Given the description of an element on the screen output the (x, y) to click on. 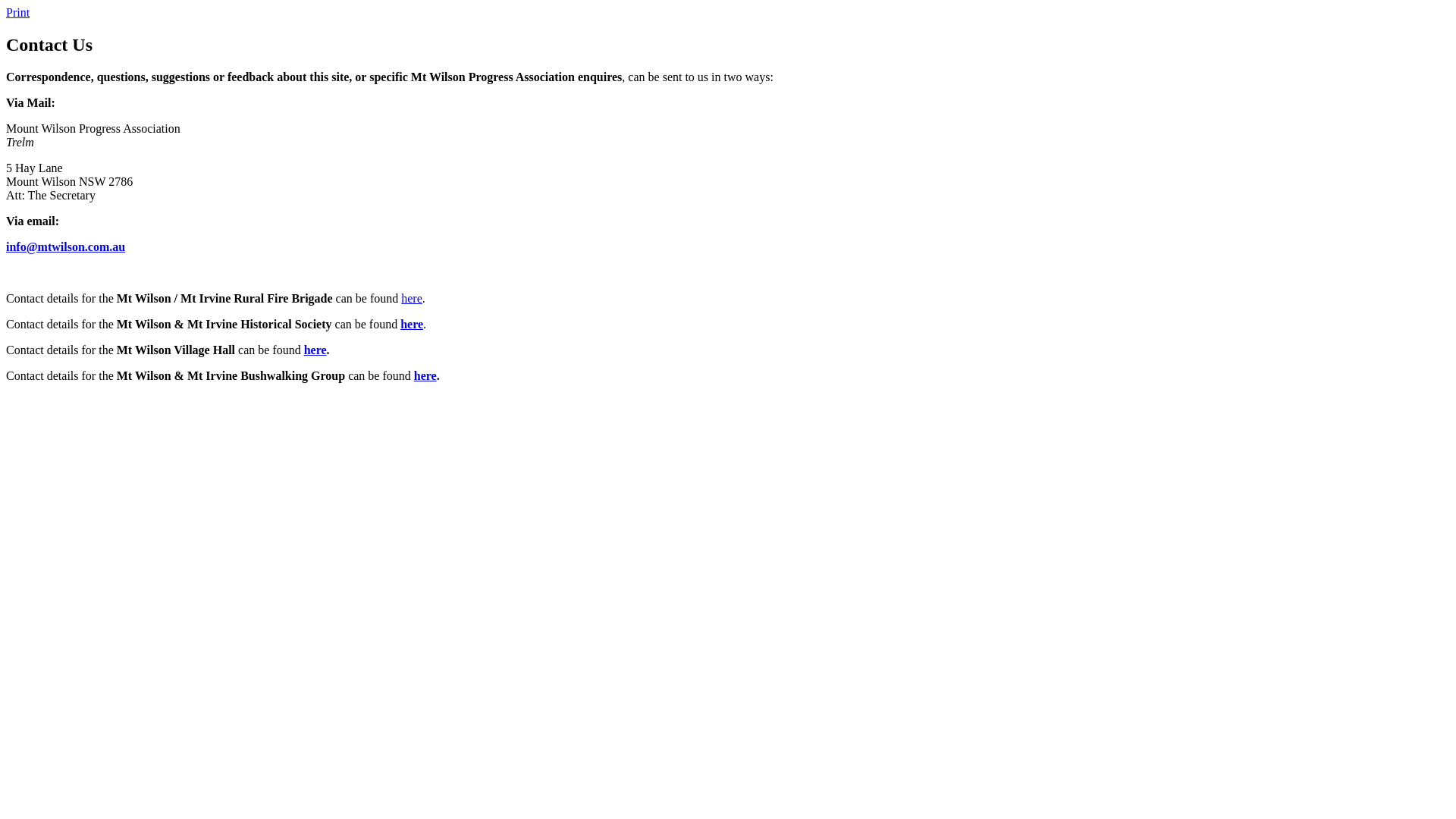
here Element type: text (411, 323)
info@mtwilson.com.au Element type: text (65, 246)
Print Element type: text (17, 12)
here Element type: text (425, 375)
here Element type: text (315, 349)
here Element type: text (411, 297)
